Given the description of an element on the screen output the (x, y) to click on. 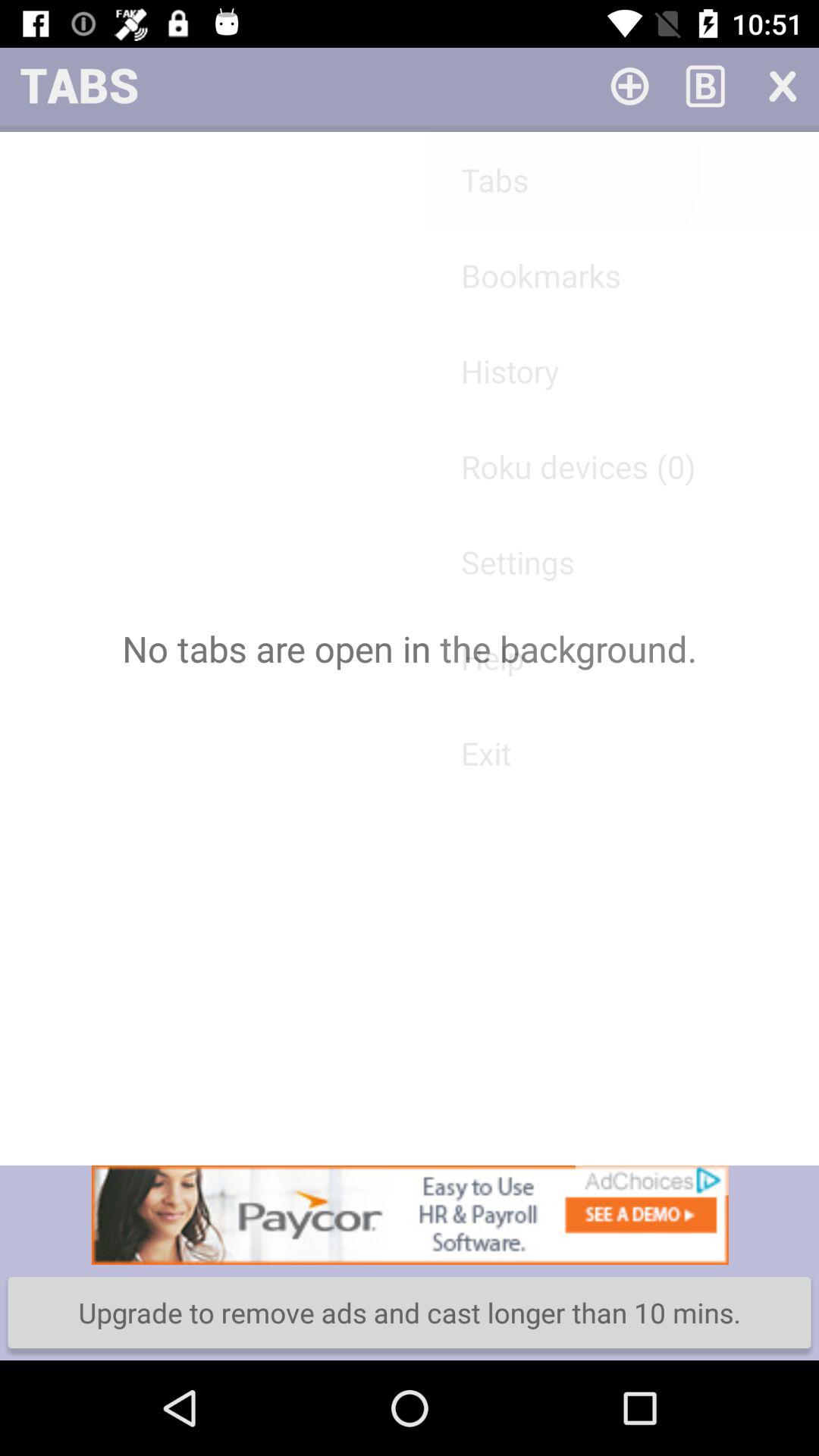
add tab (629, 85)
